Given the description of an element on the screen output the (x, y) to click on. 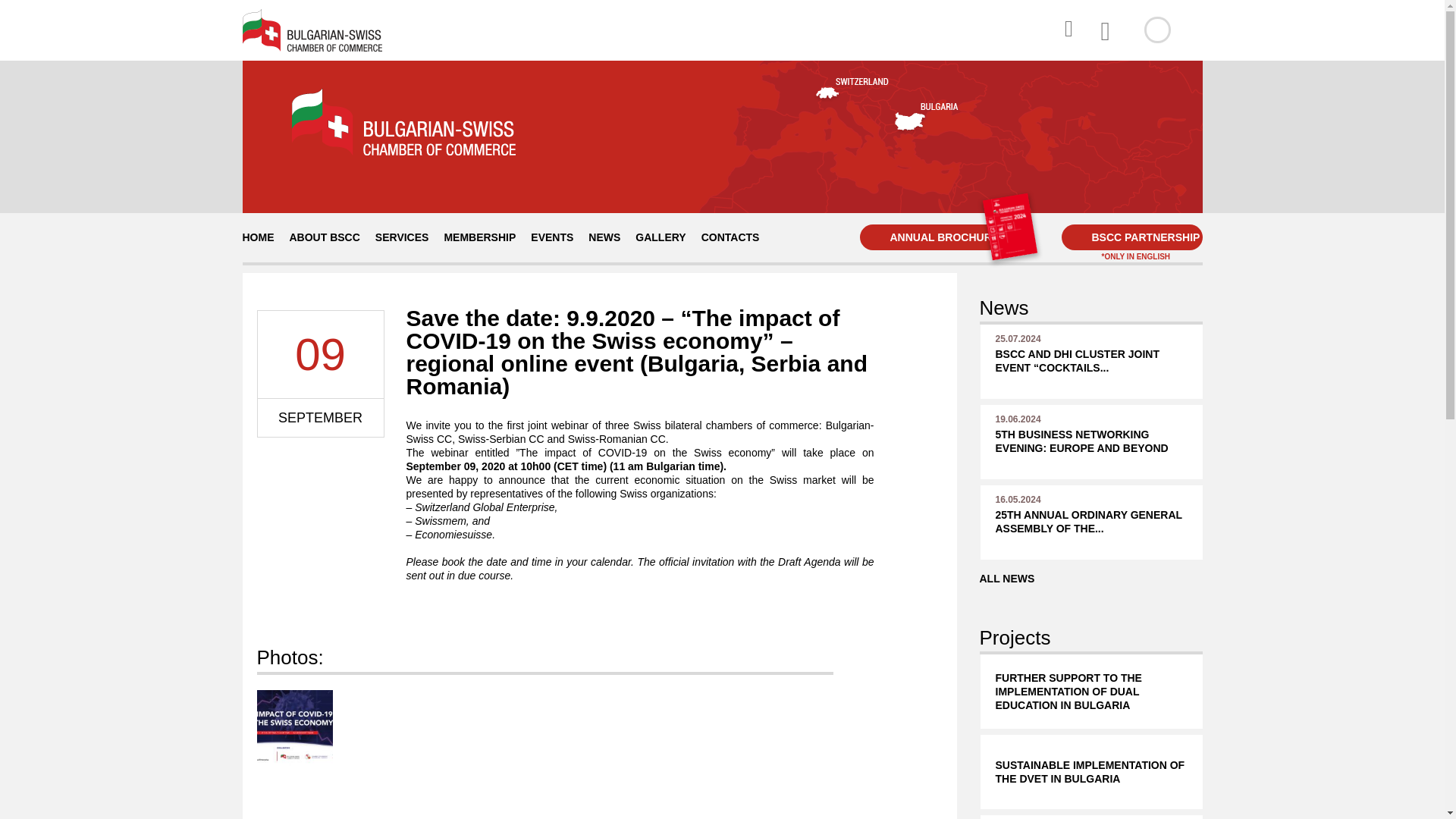
HOME (258, 237)
SUSTAINABLE IMPLEMENTATION OF THE DVET IN BULGARIA (1090, 771)
Switzerland Global Enterprise (484, 507)
ABOUT BSCC (1090, 522)
CONTACTS (325, 237)
MEMBERSHIP (730, 237)
SERVICES (478, 237)
